Given the description of an element on the screen output the (x, y) to click on. 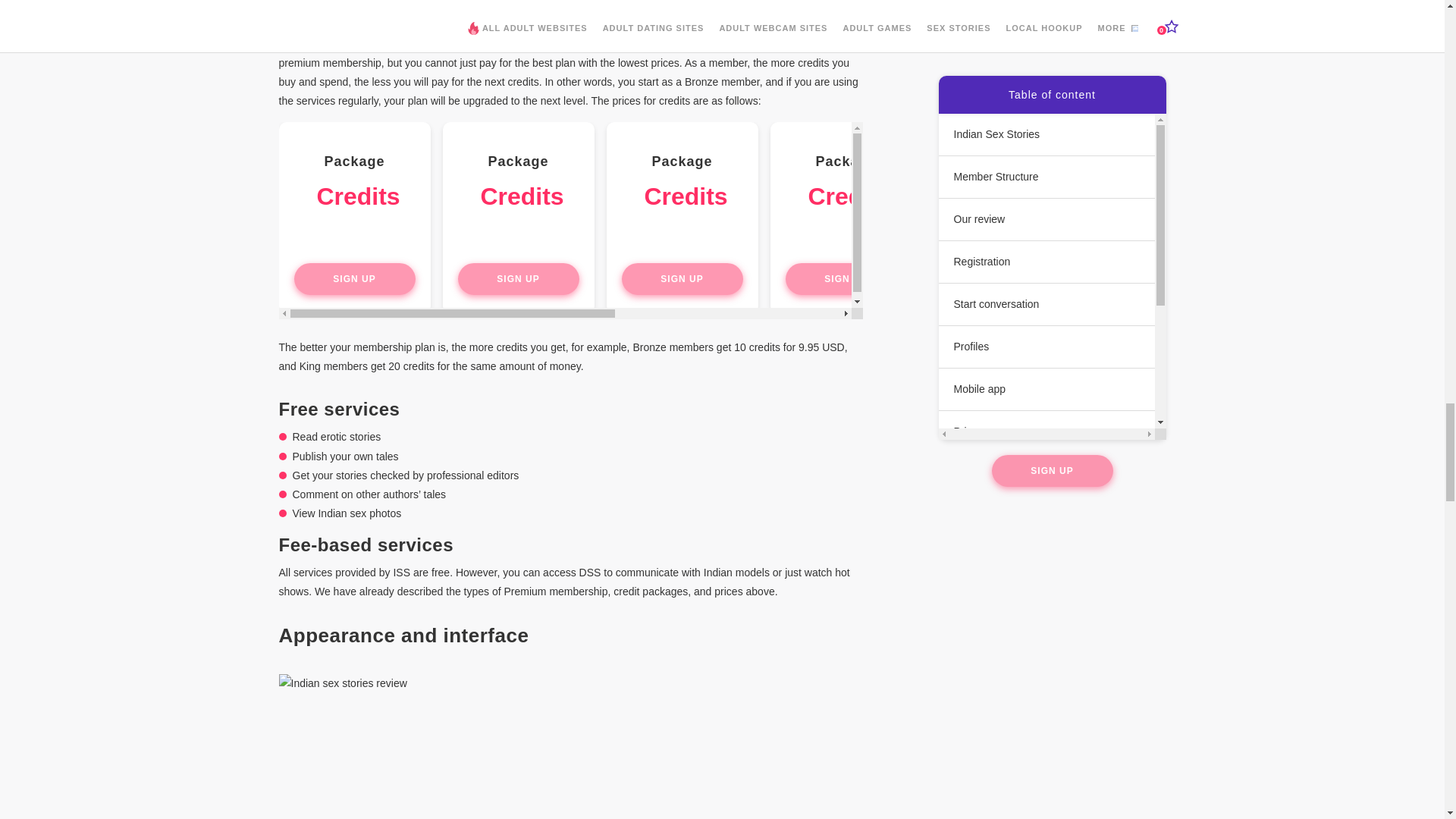
SIGN UP (354, 278)
SIGN UP (681, 278)
SIGN UP (518, 278)
